Given the description of an element on the screen output the (x, y) to click on. 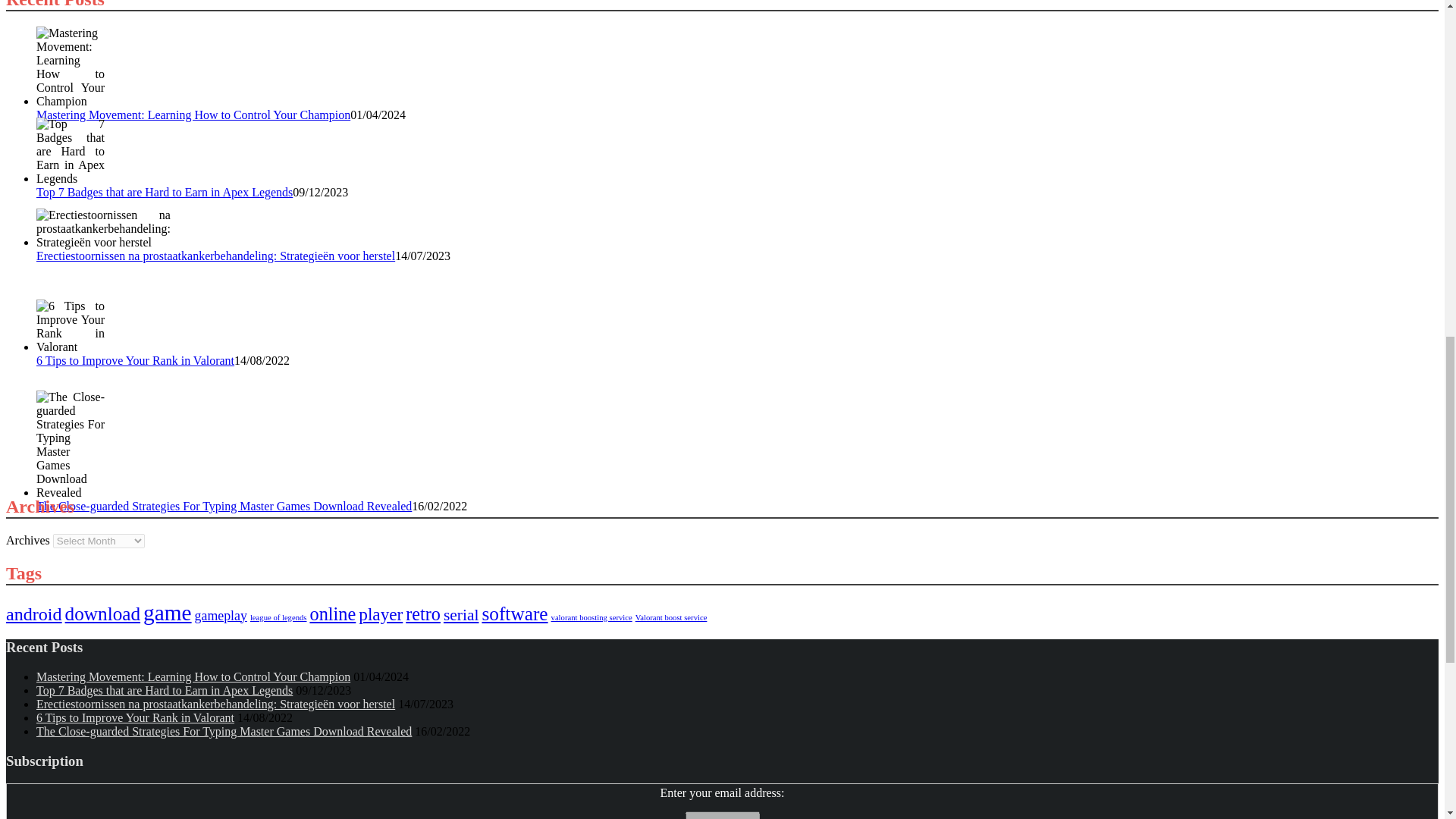
player (380, 614)
6 Tips to Improve Your Rank in Valorant (70, 326)
6 Tips to Improve Your Rank in Valorant (135, 359)
software (514, 613)
Valorant boost service (670, 617)
serial (461, 615)
android (33, 614)
valorant boosting service (591, 617)
league of legends (278, 617)
game (167, 612)
Top 7 Badges that are Hard to Earn in Apex Legends (70, 151)
Mastering Movement: Learning How to Control Your Champion (193, 114)
gameplay (221, 615)
6 Tips to Improve Your Rank in Valorant (135, 717)
